Given the description of an element on the screen output the (x, y) to click on. 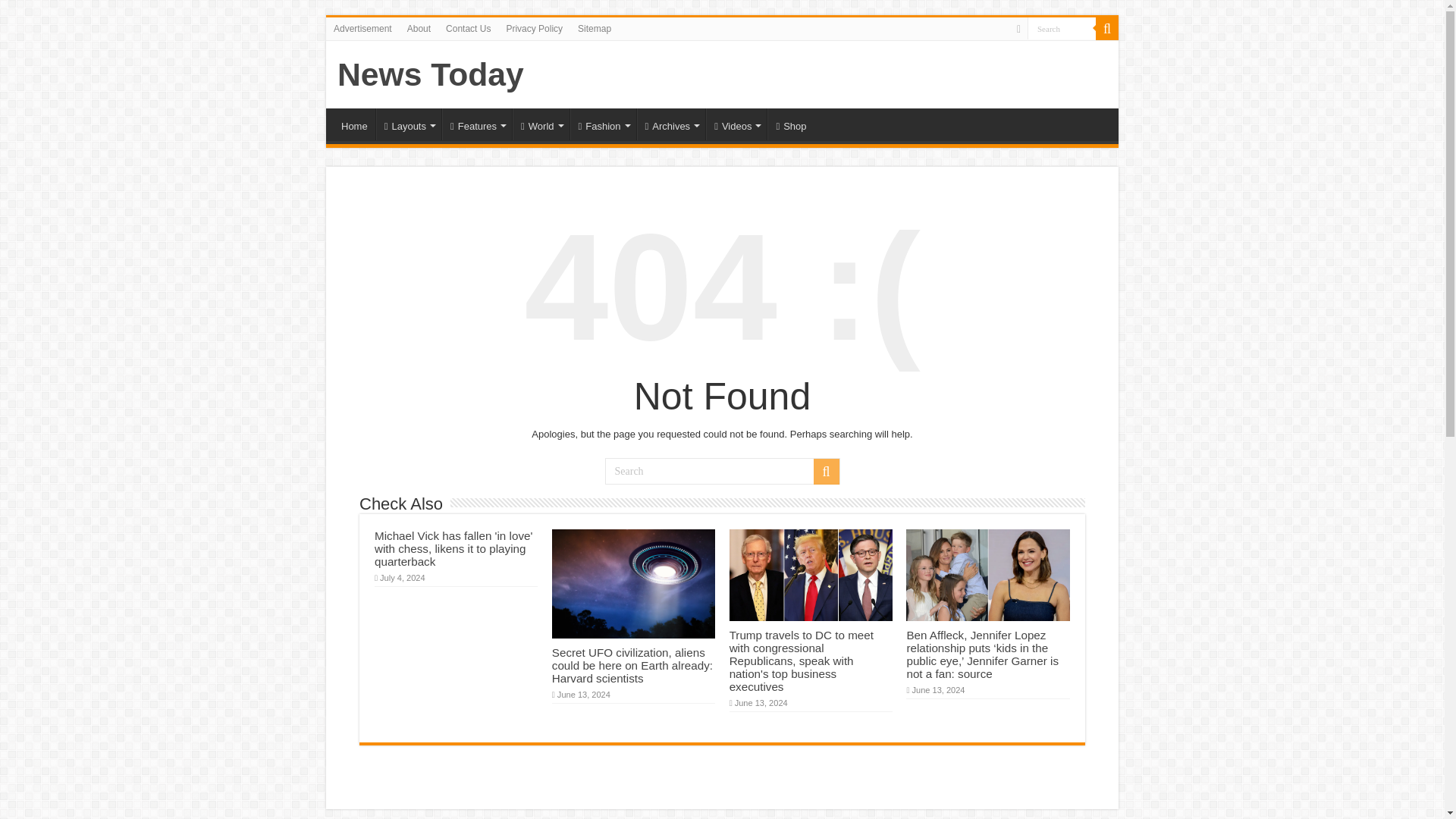
Search (1061, 28)
Search (722, 470)
Search (1061, 28)
Search (1061, 28)
